Given the description of an element on the screen output the (x, y) to click on. 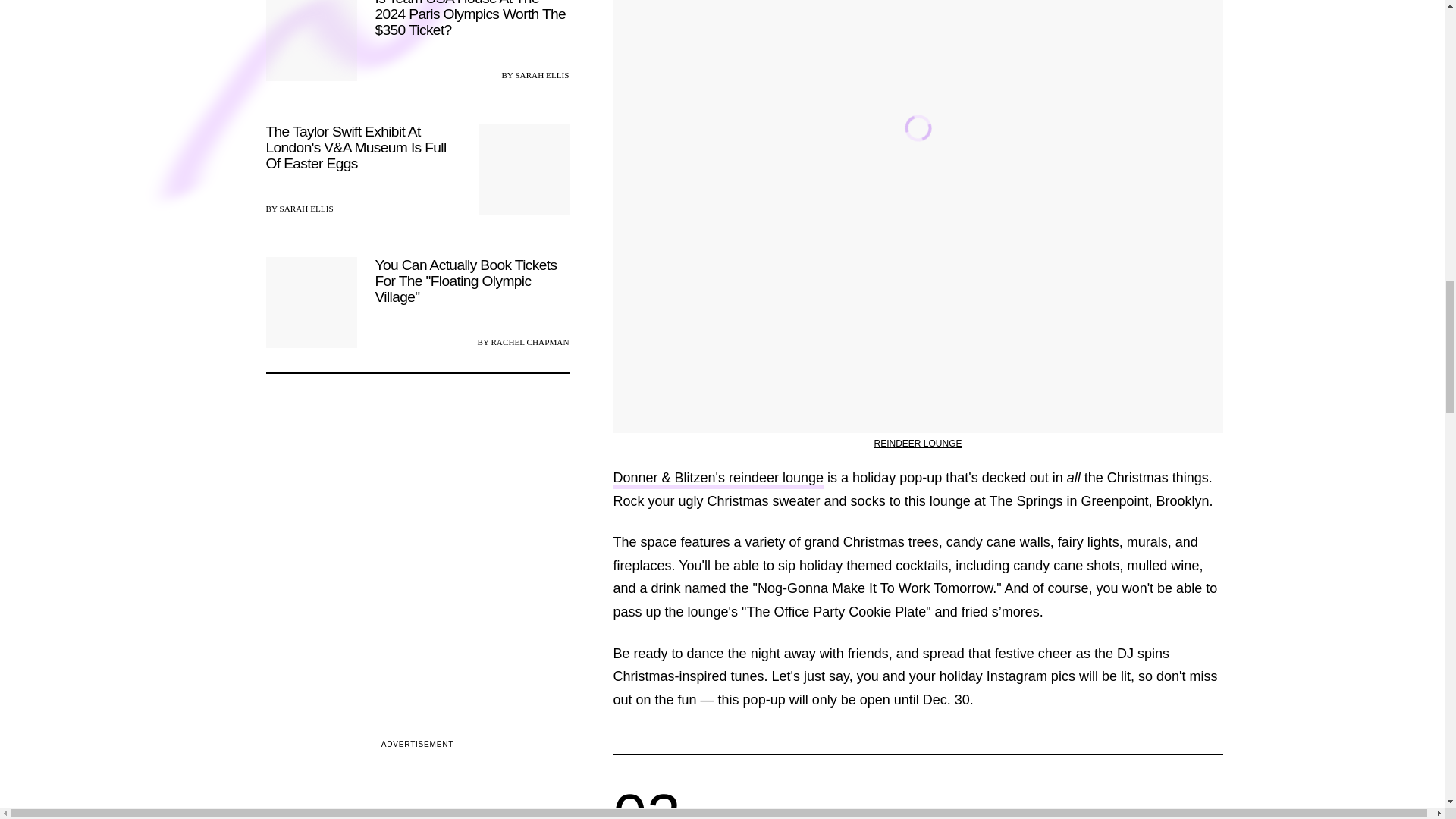
REINDEER LOUNGE (916, 443)
